Given the description of an element on the screen output the (x, y) to click on. 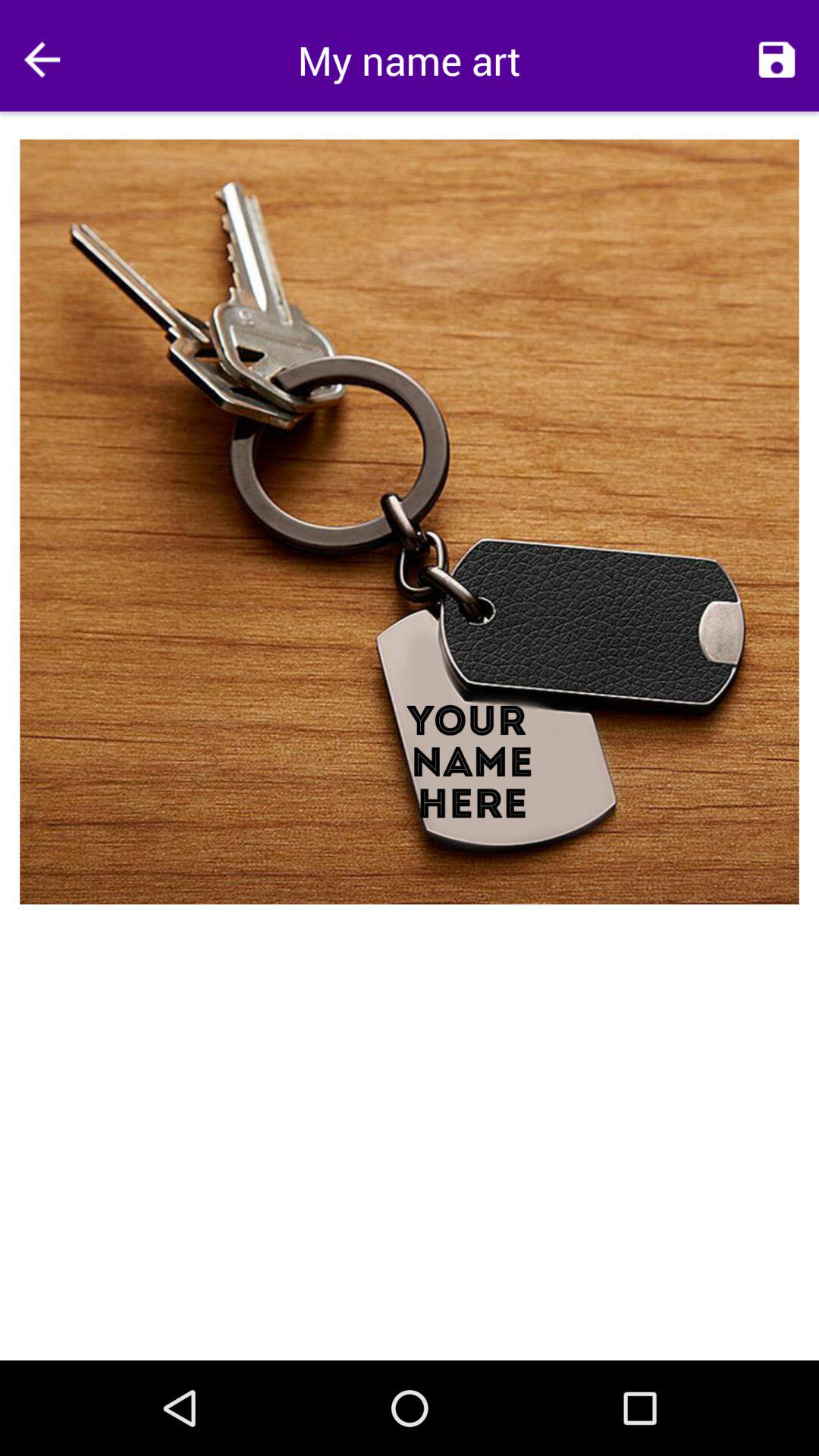
go back (41, 59)
